Given the description of an element on the screen output the (x, y) to click on. 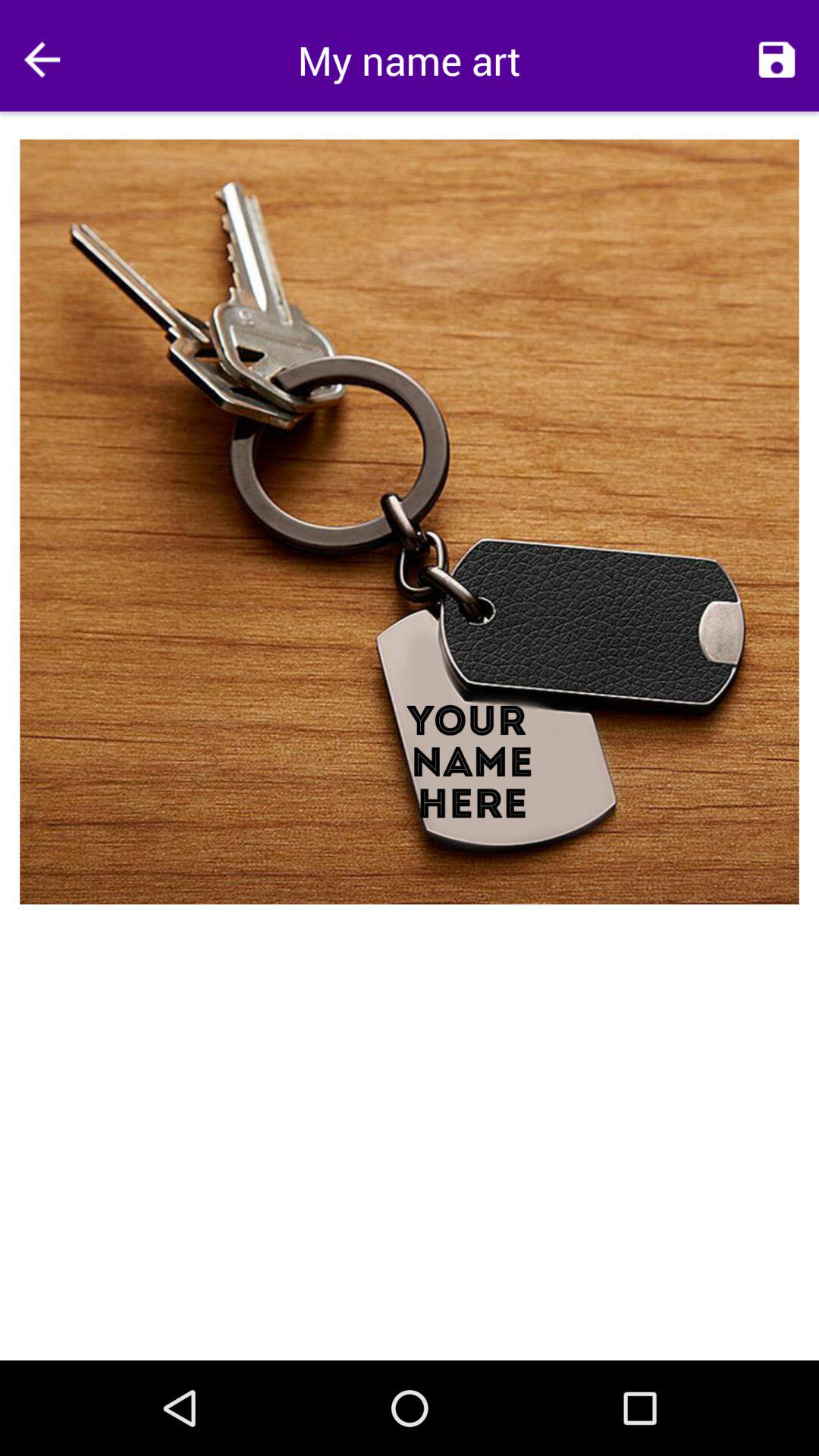
go back (41, 59)
